Given the description of an element on the screen output the (x, y) to click on. 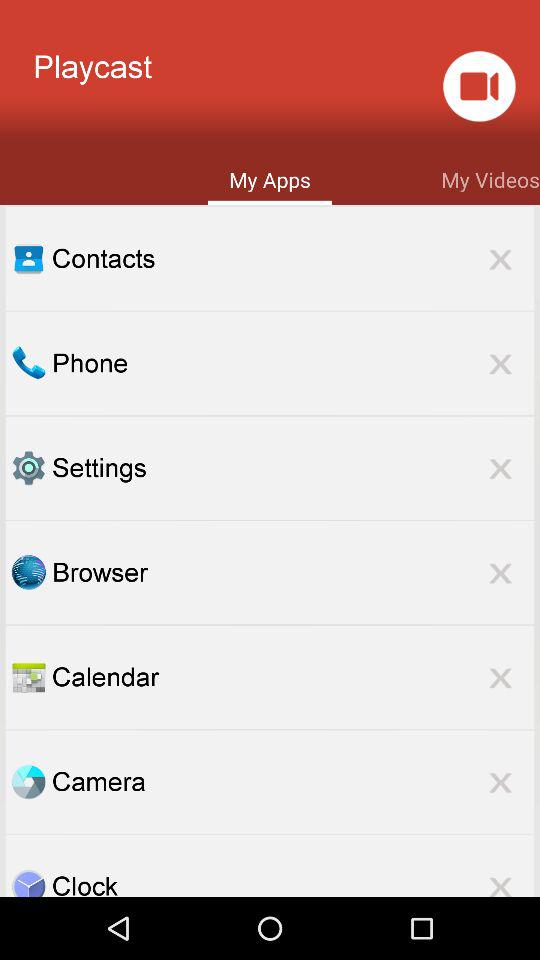
open the contacts (293, 258)
